Given the description of an element on the screen output the (x, y) to click on. 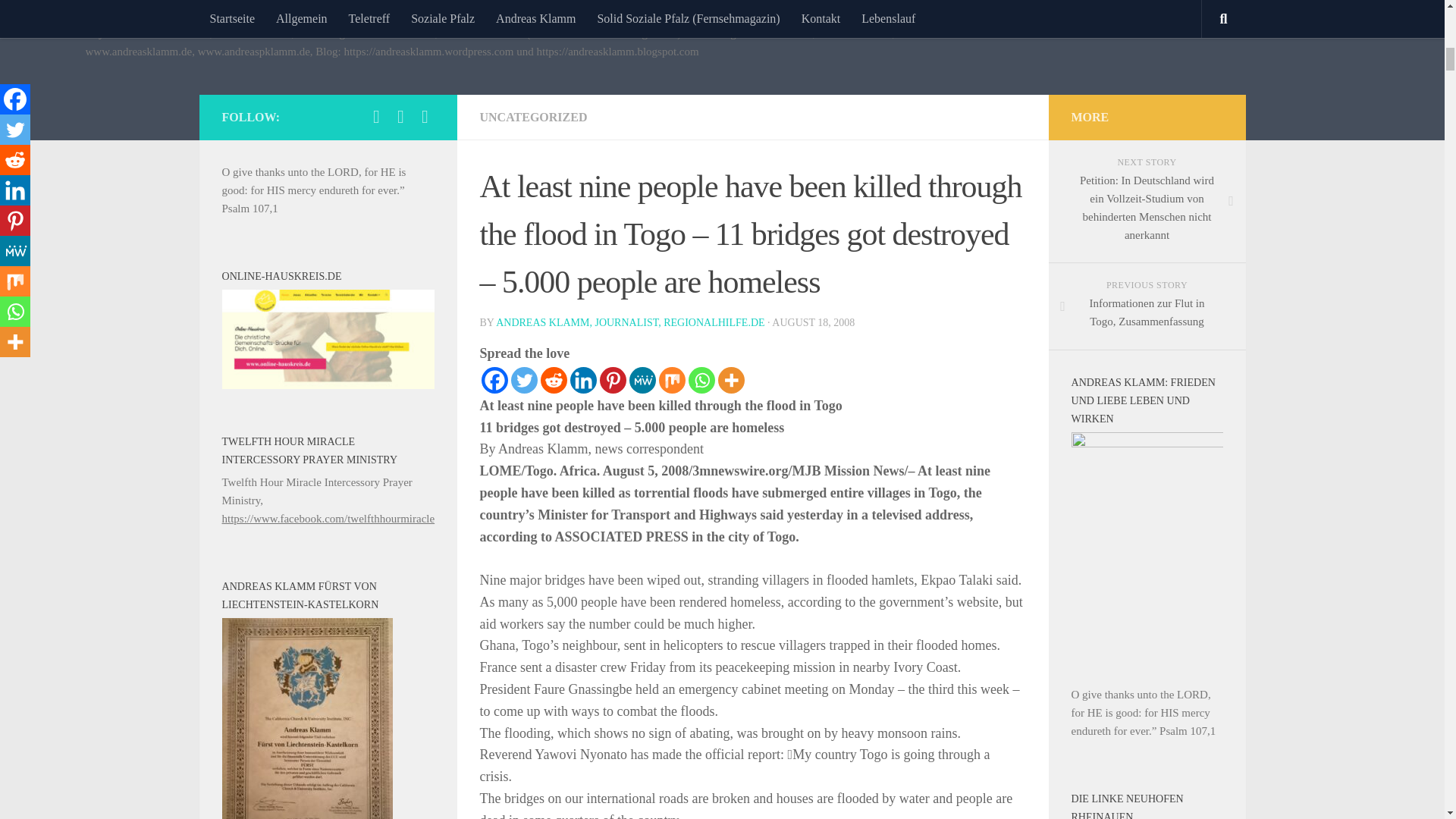
ANDREAS KLAMM, JOURNALIST, REGIONALHILFE.DE (630, 322)
Posts by Andreas Klamm, Journalist, regionalhilfe.de (630, 322)
Twitter (524, 379)
Reddit (553, 379)
UNCATEGORIZED (532, 116)
Facebook (493, 379)
